Given the description of an element on the screen output the (x, y) to click on. 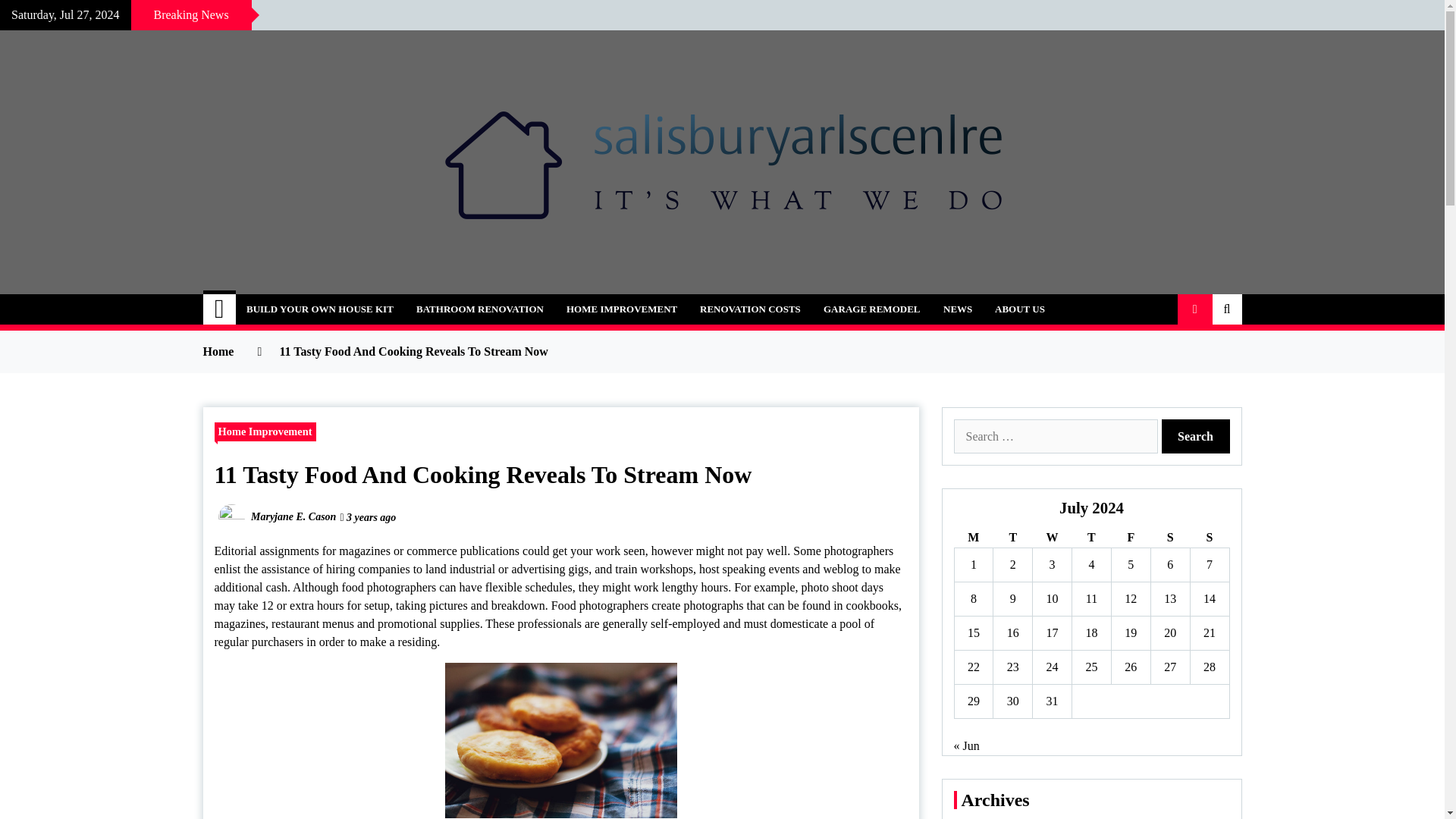
Monday (972, 537)
Home (219, 309)
NEWS (957, 309)
ABOUT US (1020, 309)
RENOVATION COSTS (750, 309)
Thursday (1091, 537)
Friday (1130, 537)
BUILD YOUR OWN HOUSE KIT (319, 309)
Search (1195, 436)
Sunday (1208, 537)
HOME IMPROVEMENT (621, 309)
Saturday (1169, 537)
Search (1195, 436)
salisburyarlscenlre (339, 300)
Wednesday (1051, 537)
